Given the description of an element on the screen output the (x, y) to click on. 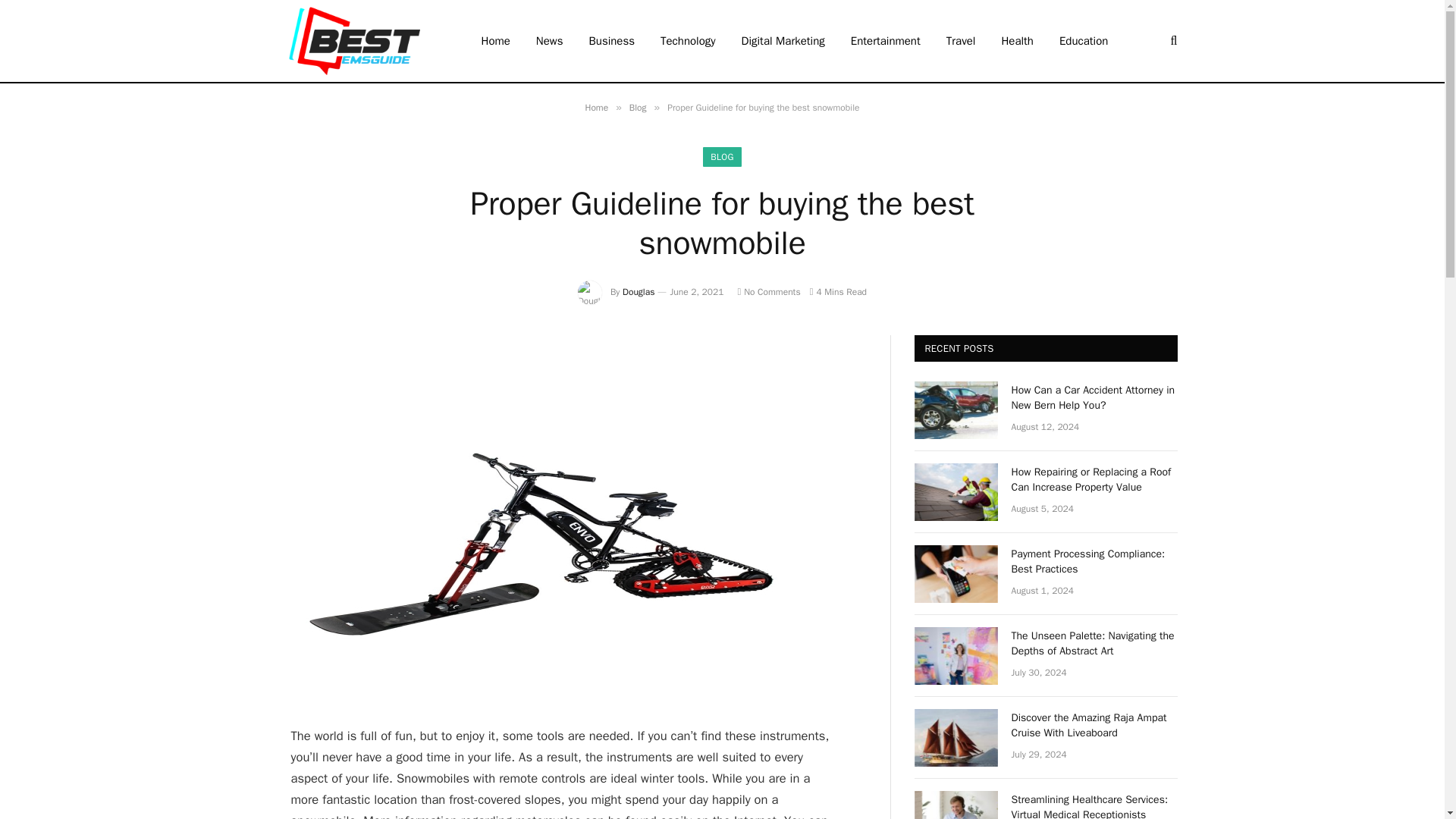
How Can a Car Accident Attorney in New Bern Help You? (1094, 398)
Blog (637, 107)
Education (1083, 40)
Payment Processing Compliance: Best Practices (1094, 562)
Technology (688, 40)
Discover the Amazing Raja Ampat Cruise With Liveaboard (955, 737)
Payment Processing Compliance: Best Practices (955, 573)
Posts by Douglas (638, 291)
Bestemsguide (353, 41)
Digital Marketing (783, 40)
